Given the description of an element on the screen output the (x, y) to click on. 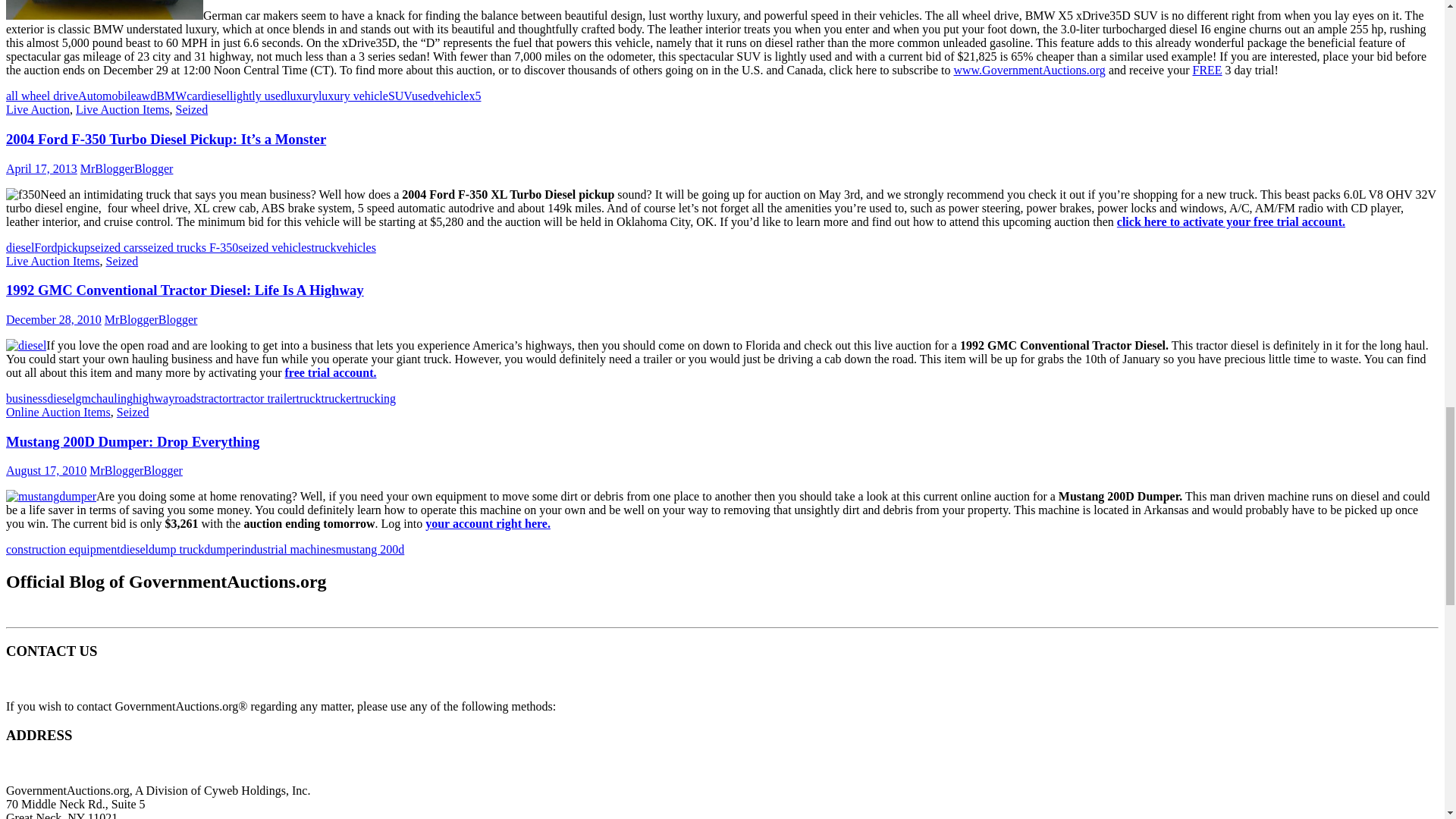
View all posts in Seized (192, 109)
View all posts in Live Auction Items (122, 109)
View all posts in Online Auction Items (57, 411)
View all posts in Seized (132, 411)
mustangdumper (50, 496)
View all posts in Seized (122, 260)
f350 (22, 194)
View all posts in Live Auction Items (52, 260)
View all posts in Live Auction (37, 109)
diesel (25, 345)
